Given the description of an element on the screen output the (x, y) to click on. 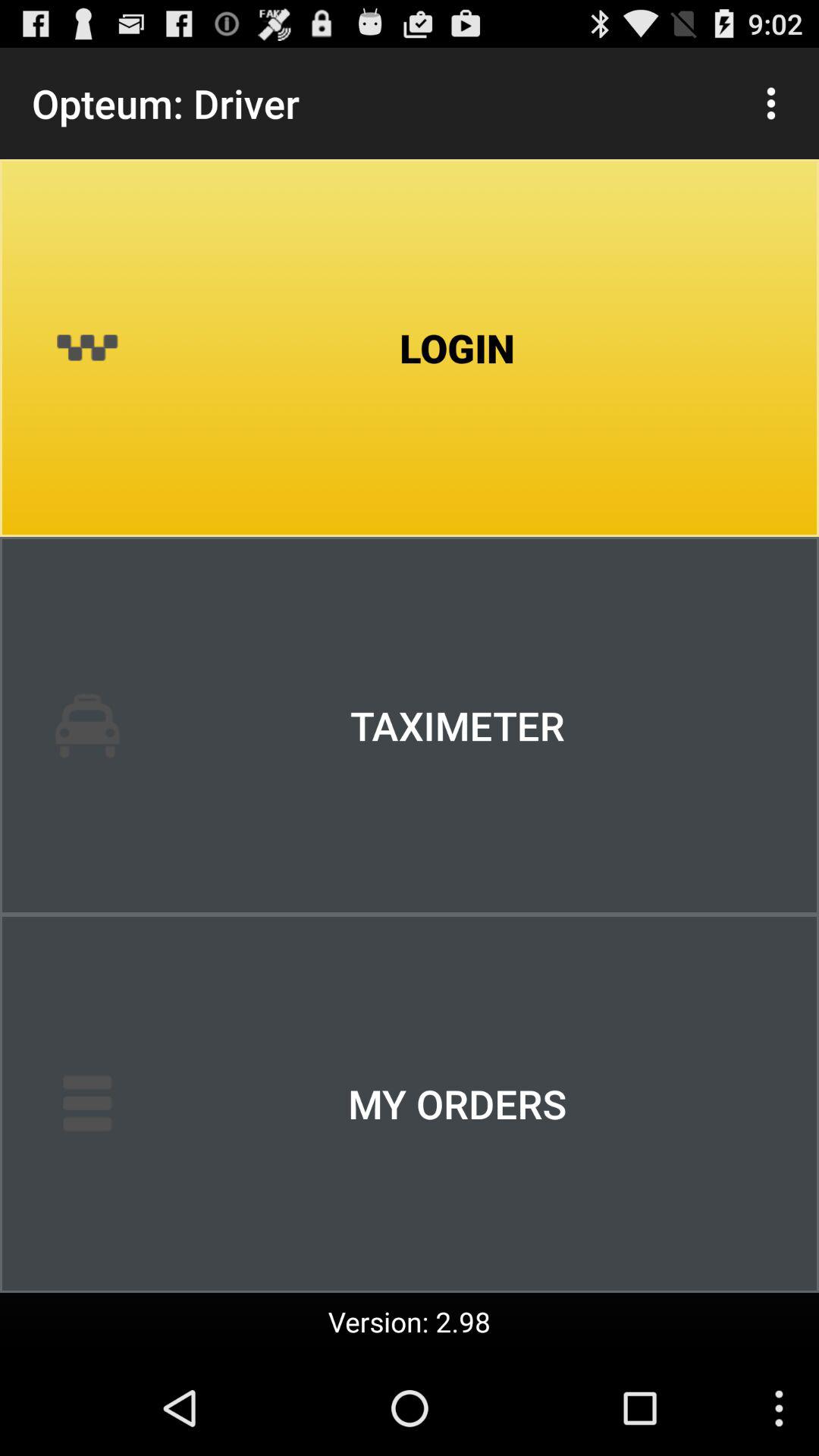
choose taximeter item (409, 725)
